Given the description of an element on the screen output the (x, y) to click on. 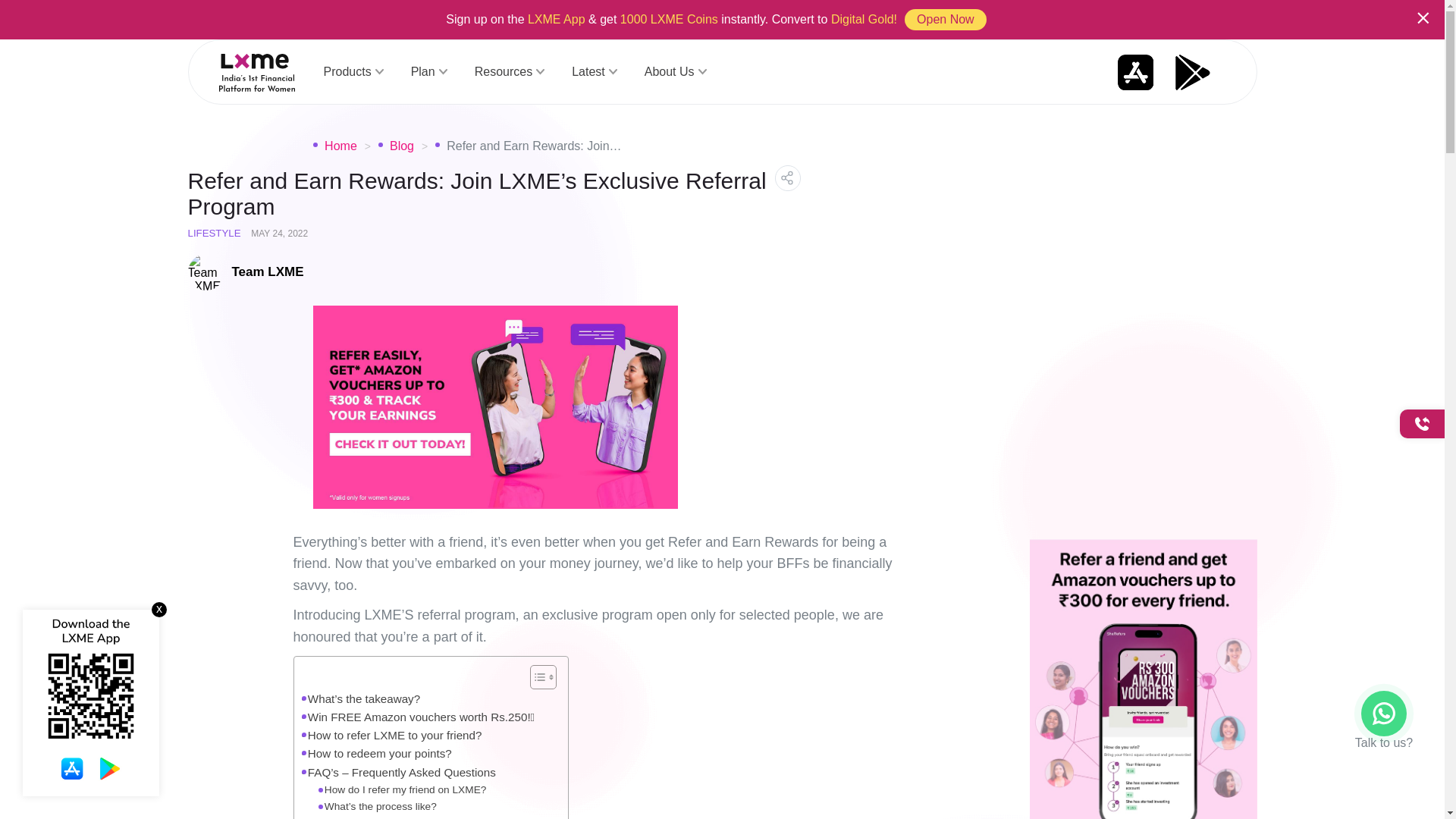
Resources (509, 71)
Latest (594, 71)
Products (352, 71)
How to redeem your points? (376, 753)
Open Now (945, 19)
About Us (675, 71)
Plan (428, 71)
How to refer LXME to your friend? (391, 735)
How do I refer my friend on LXME? (402, 790)
